Given the description of an element on the screen output the (x, y) to click on. 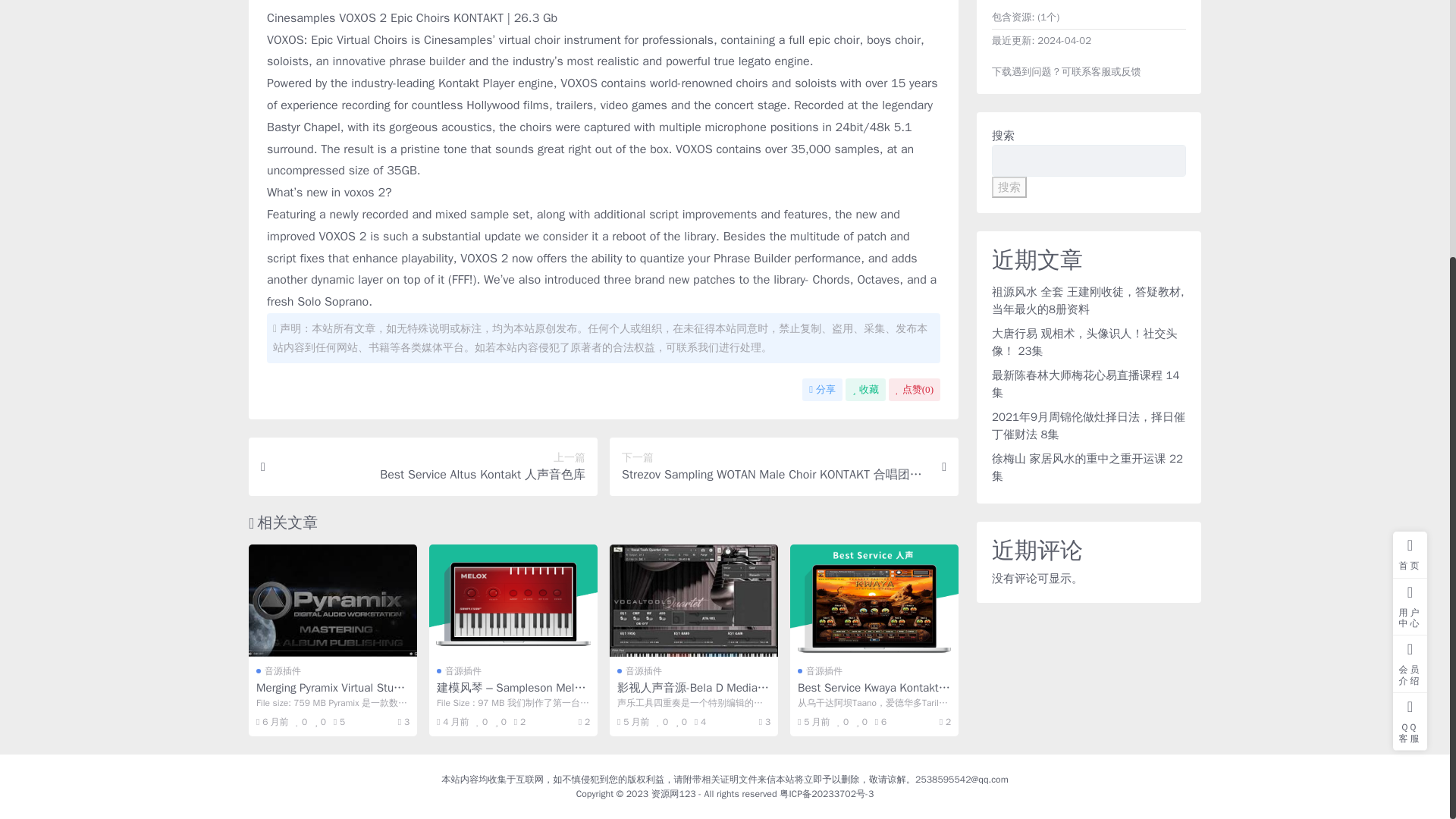
Merging Pyramix Virtual Studio 14.0.2 WIN (332, 694)
Merging Pyramix Virtual Studio 14.0.2 WIN (332, 600)
Merging Pyramix Virtual Studio 14.0.2 WIN (332, 694)
